Given the description of an element on the screen output the (x, y) to click on. 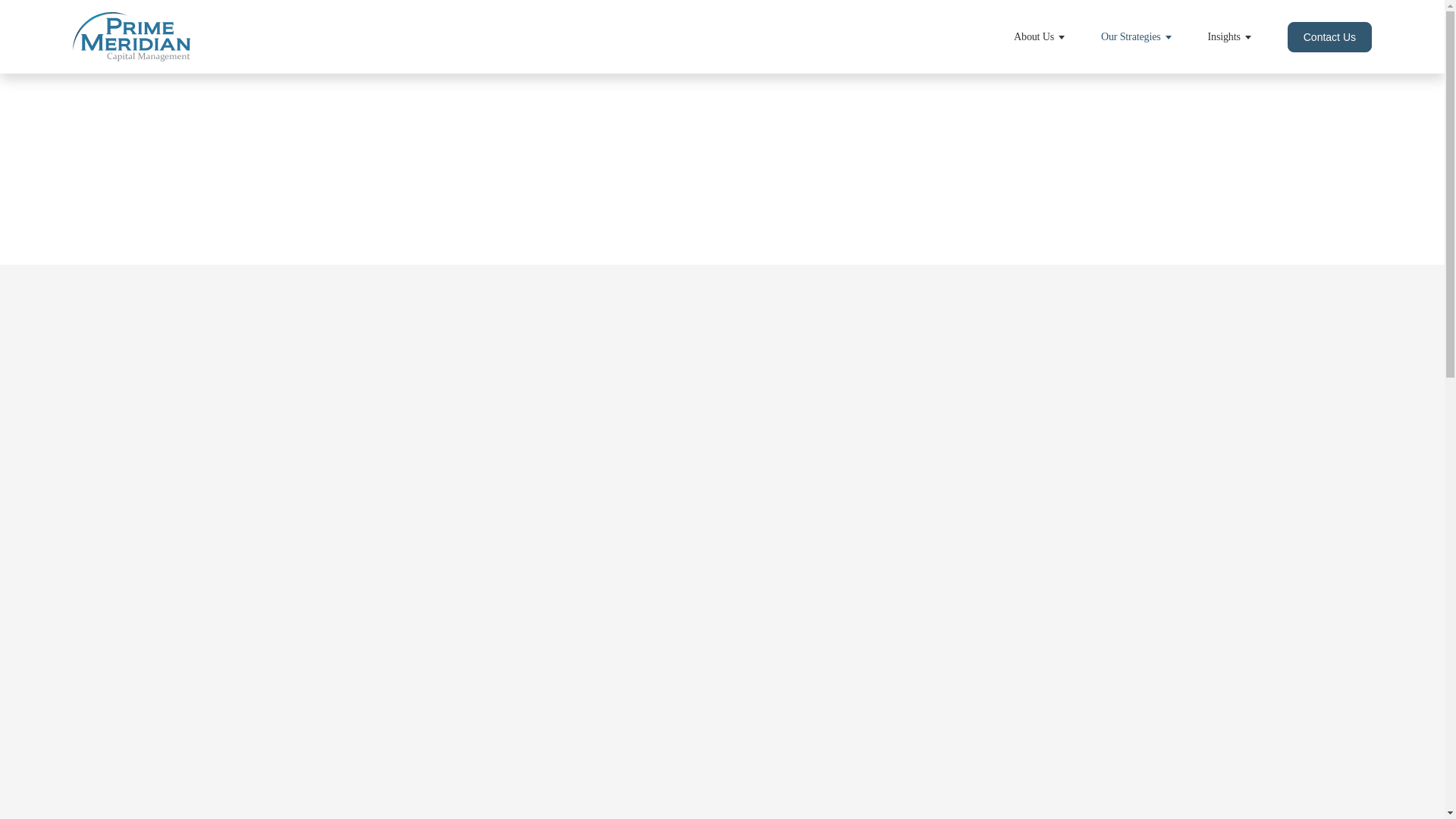
Our Strategies (1136, 36)
Insights (1229, 36)
About Us (1039, 36)
Contact Us (1329, 37)
